Given the description of an element on the screen output the (x, y) to click on. 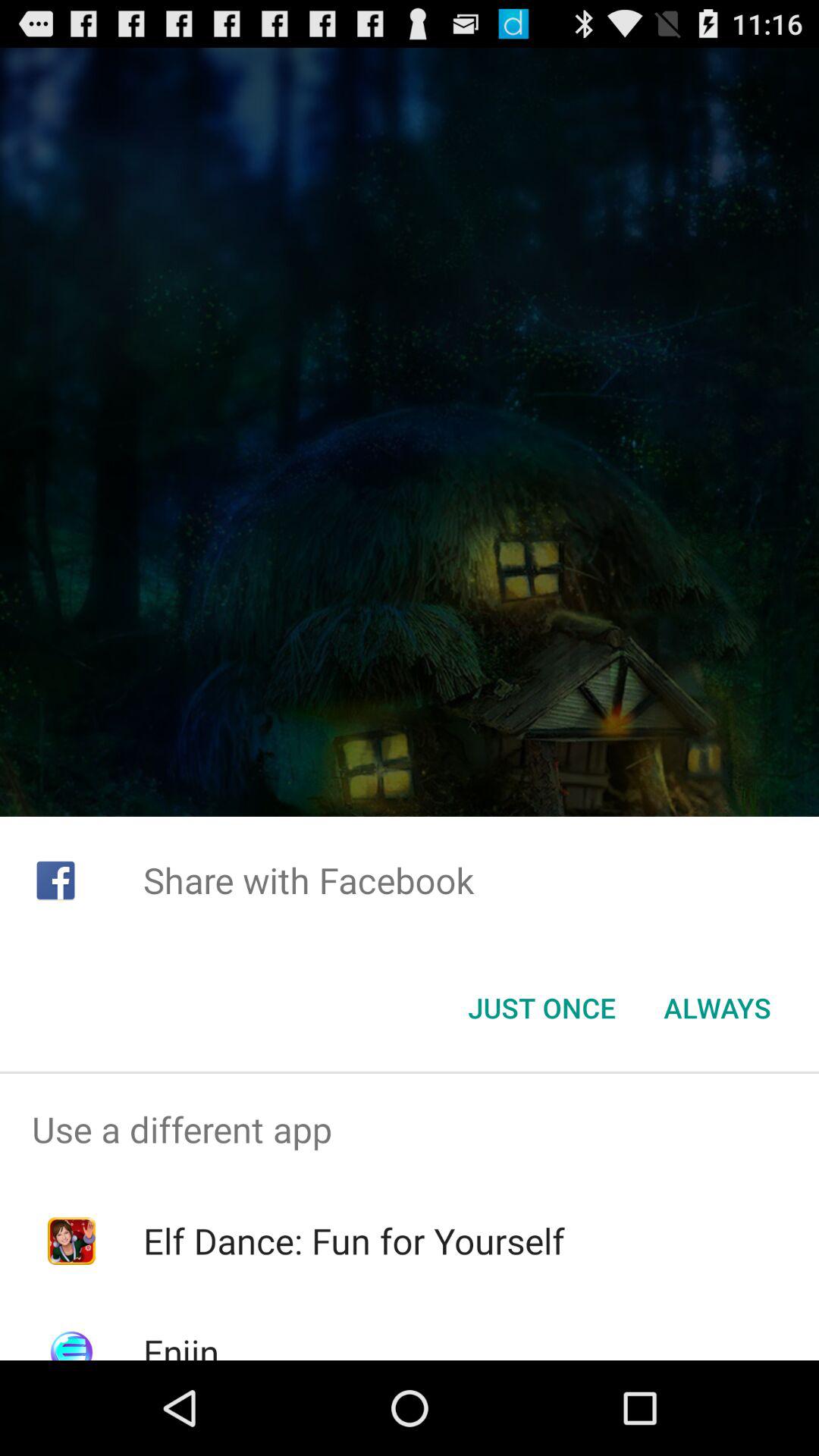
choose elf dance fun (353, 1240)
